Given the description of an element on the screen output the (x, y) to click on. 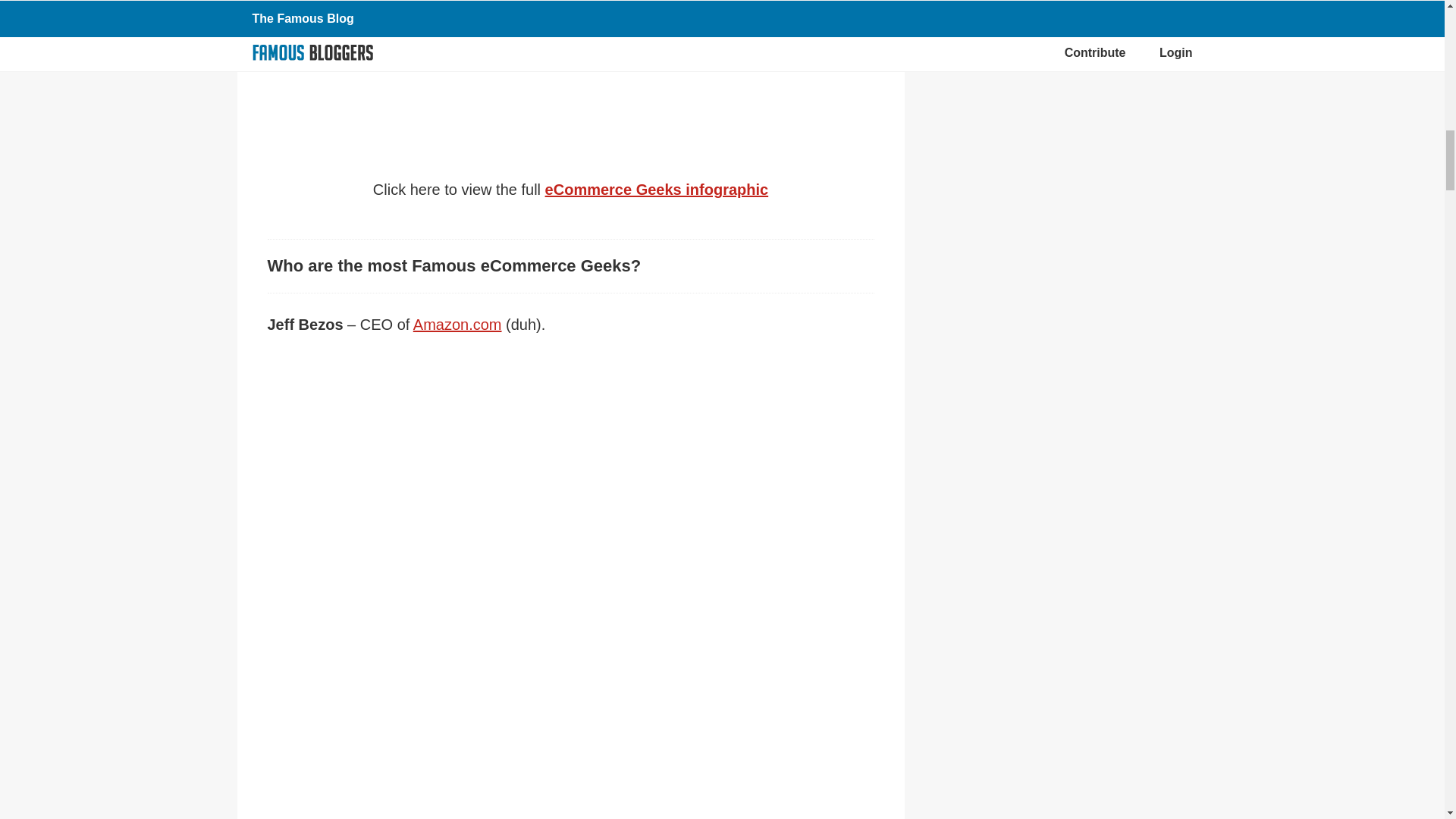
famous ecommerce geeks (569, 61)
eCommerce Geeks infographic (656, 189)
eCommerce Geeks infographic (656, 189)
Amazon.com (457, 324)
Amazon.com (457, 324)
